Given the description of an element on the screen output the (x, y) to click on. 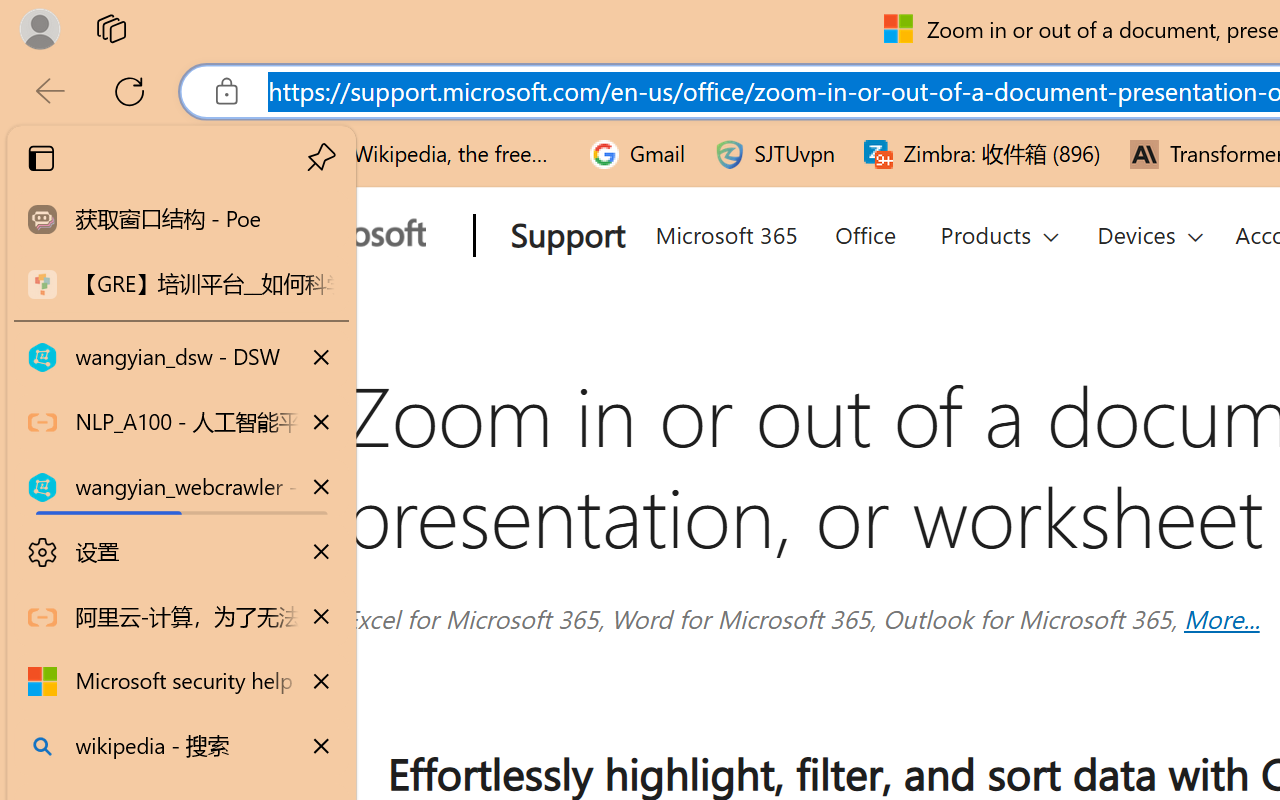
Wikipedia, the free encyclopedia (437, 154)
Support (563, 237)
Microsoft 365 (725, 232)
wangyian_dsw - DSW (181, 357)
Microsoft security help and learning (181, 681)
